Given the description of an element on the screen output the (x, y) to click on. 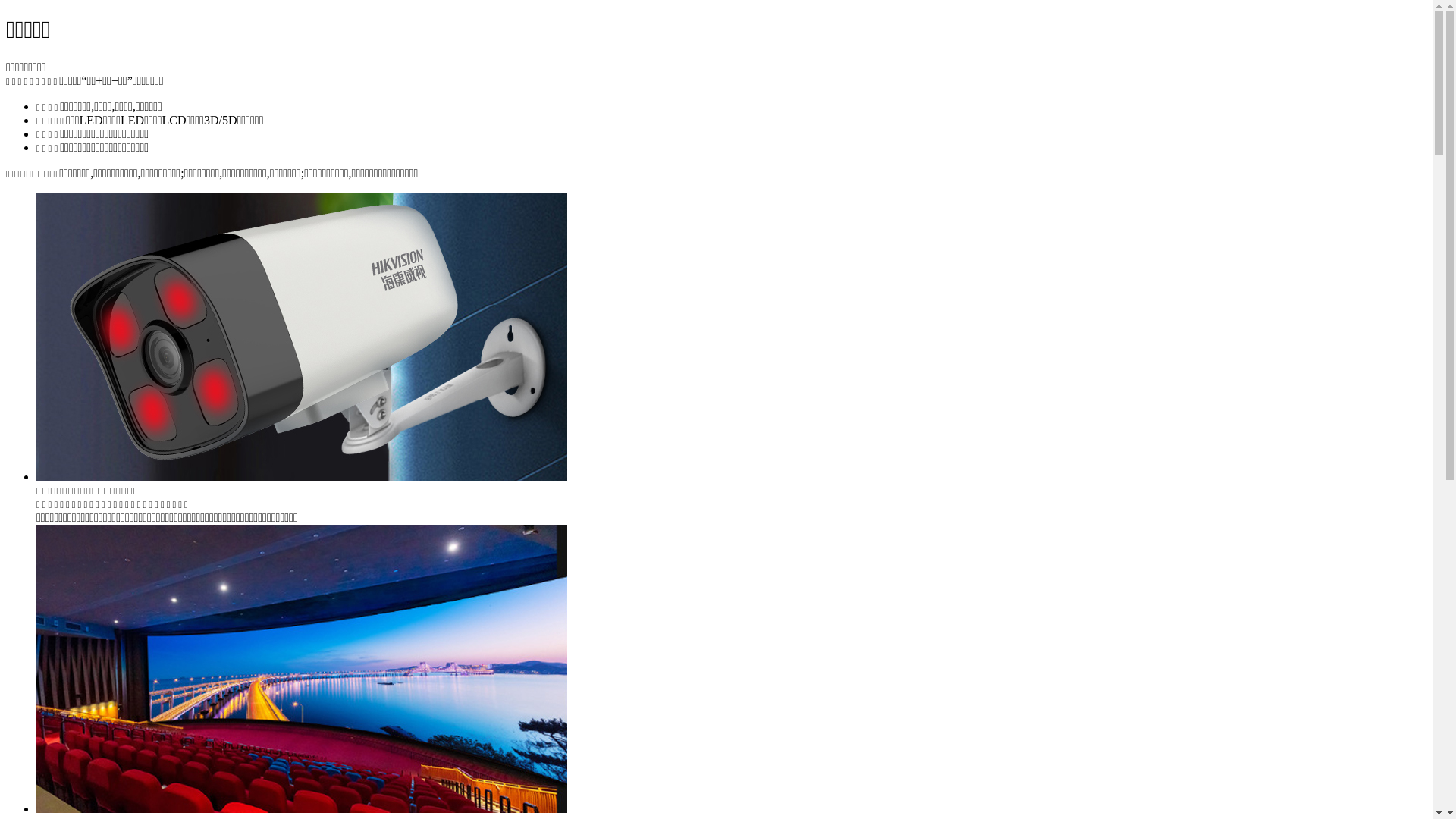
X Element type: text (1428, 98)
3416866048 Element type: text (422, 144)
